Given the description of an element on the screen output the (x, y) to click on. 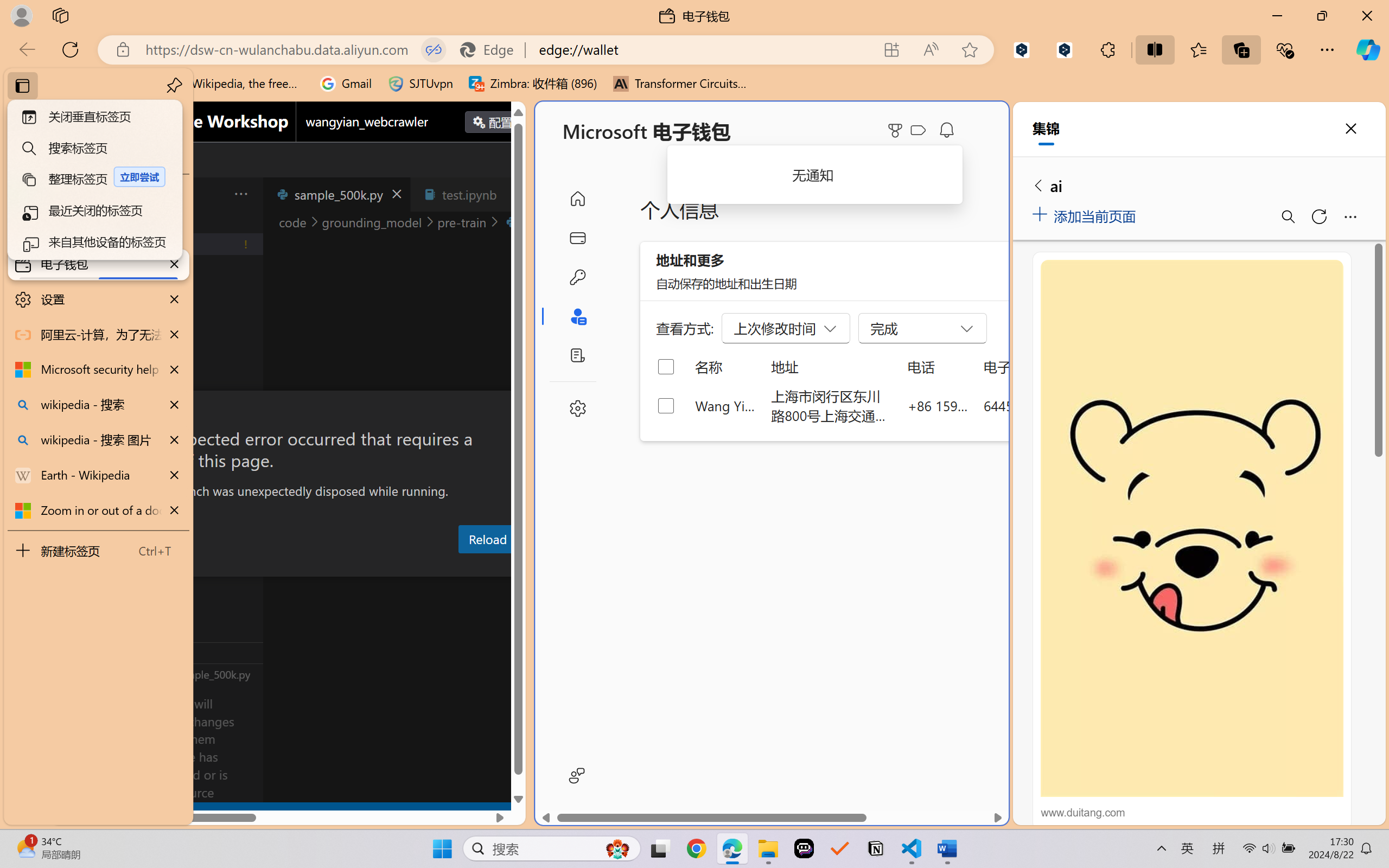
Terminal (Ctrl+`) (553, 565)
Class: actions-container (287, 410)
Source Control (Ctrl+Shift+G) (73, 328)
644553698@qq.com (1043, 405)
